Given the description of an element on the screen output the (x, y) to click on. 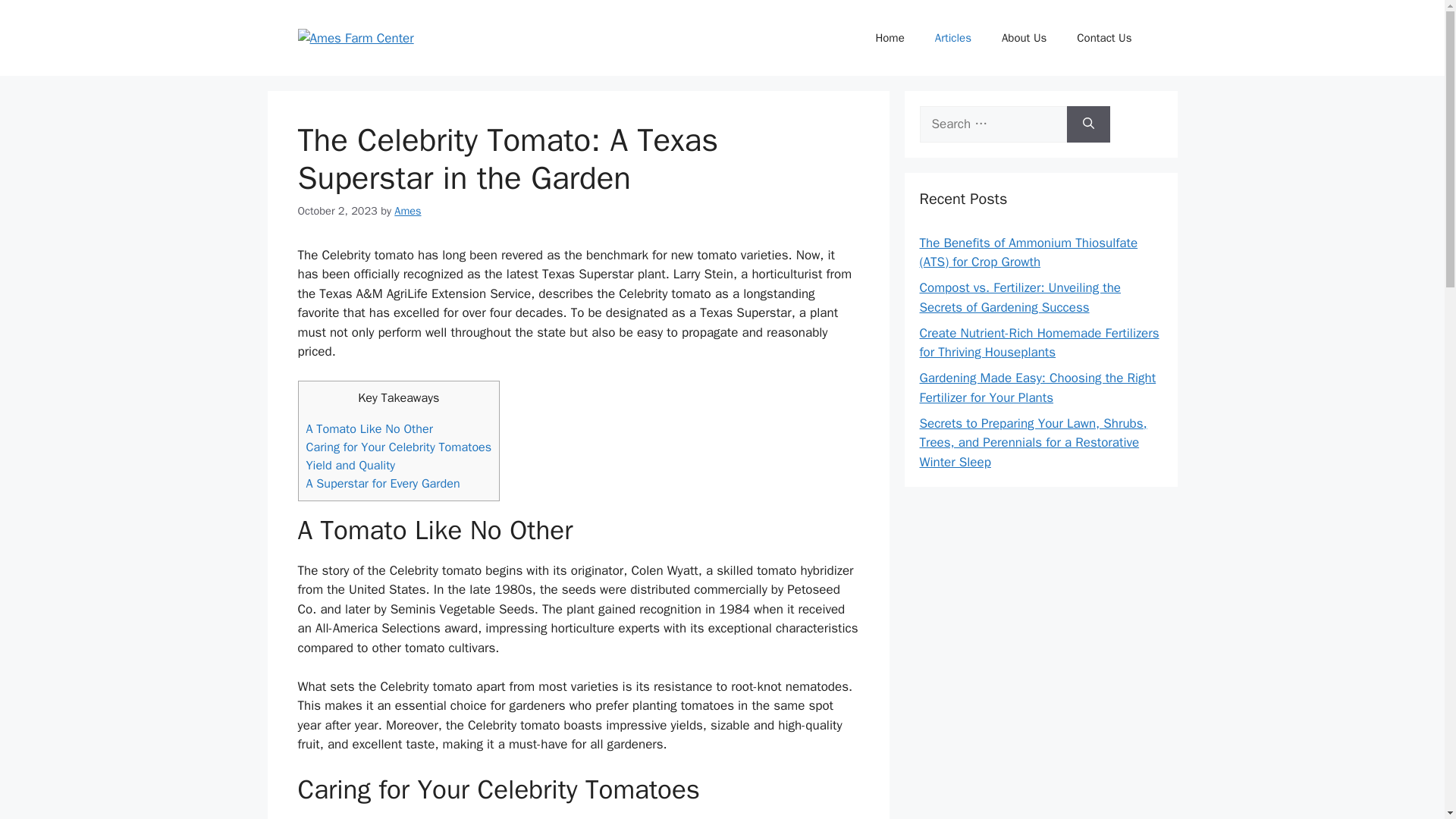
Search for: (991, 124)
Articles (953, 37)
A Tomato Like No Other (368, 428)
Ames (407, 210)
A Superstar for Every Garden (382, 483)
About Us (1024, 37)
Home (889, 37)
Caring for Your Celebrity Tomatoes (398, 446)
